Given the description of an element on the screen output the (x, y) to click on. 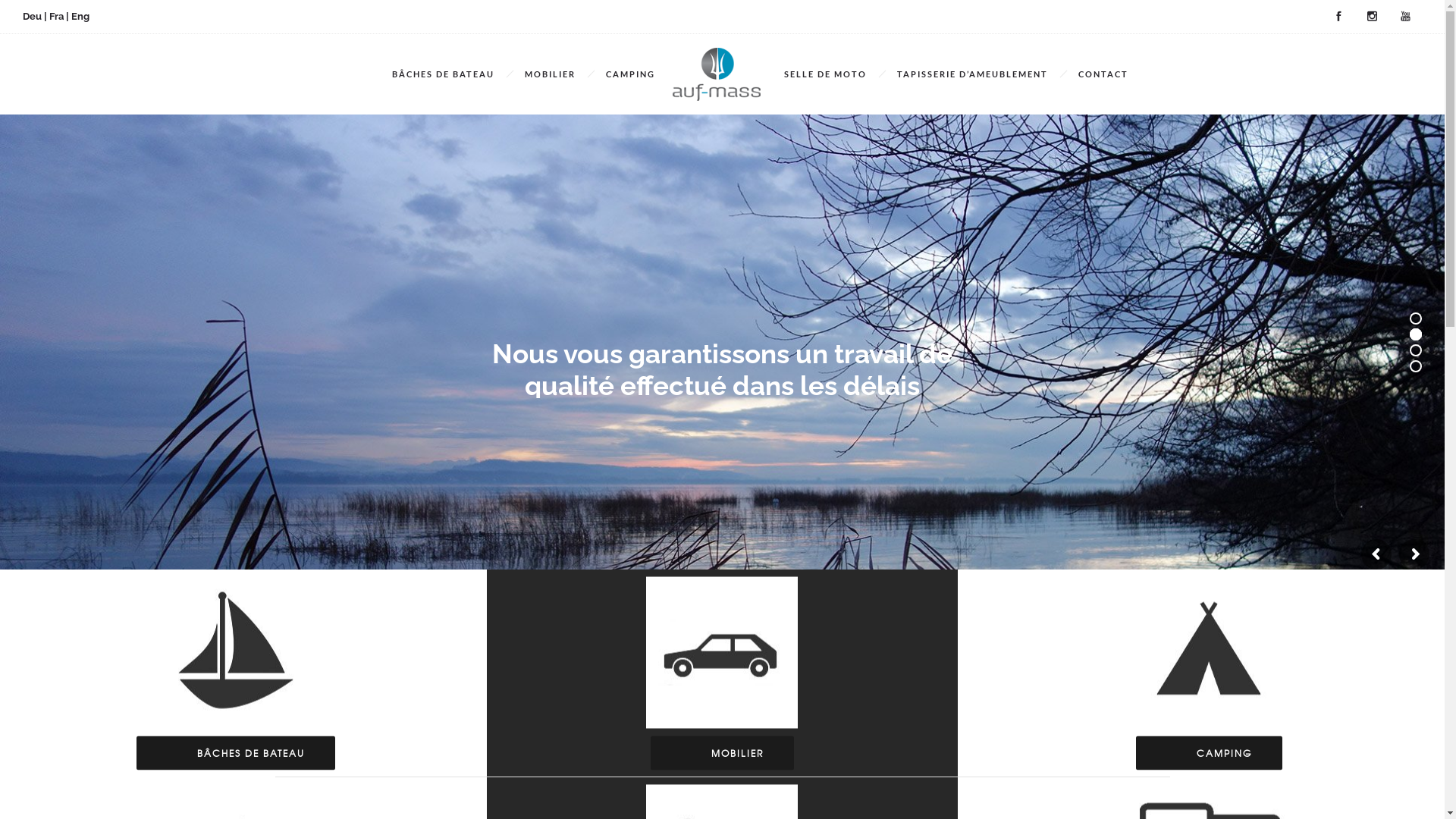
CAMPING Element type: text (630, 74)
Car-1 Element type: hover (721, 652)
Fra Element type: text (56, 15)
YouTube Element type: hover (1404, 16)
MOBILIER Element type: text (549, 74)
Tent Element type: hover (1208, 652)
CAMPING Element type: text (1208, 753)
MOBILIER Element type: text (721, 753)
Deu Element type: text (31, 15)
SELLE DE MOTO Element type: text (824, 74)
Sailboat Element type: hover (235, 652)
CONTACT Element type: text (1103, 74)
Eng Element type: text (80, 15)
Facebook Element type: hover (1338, 16)
Instagram Element type: hover (1371, 16)
